Given the description of an element on the screen output the (x, y) to click on. 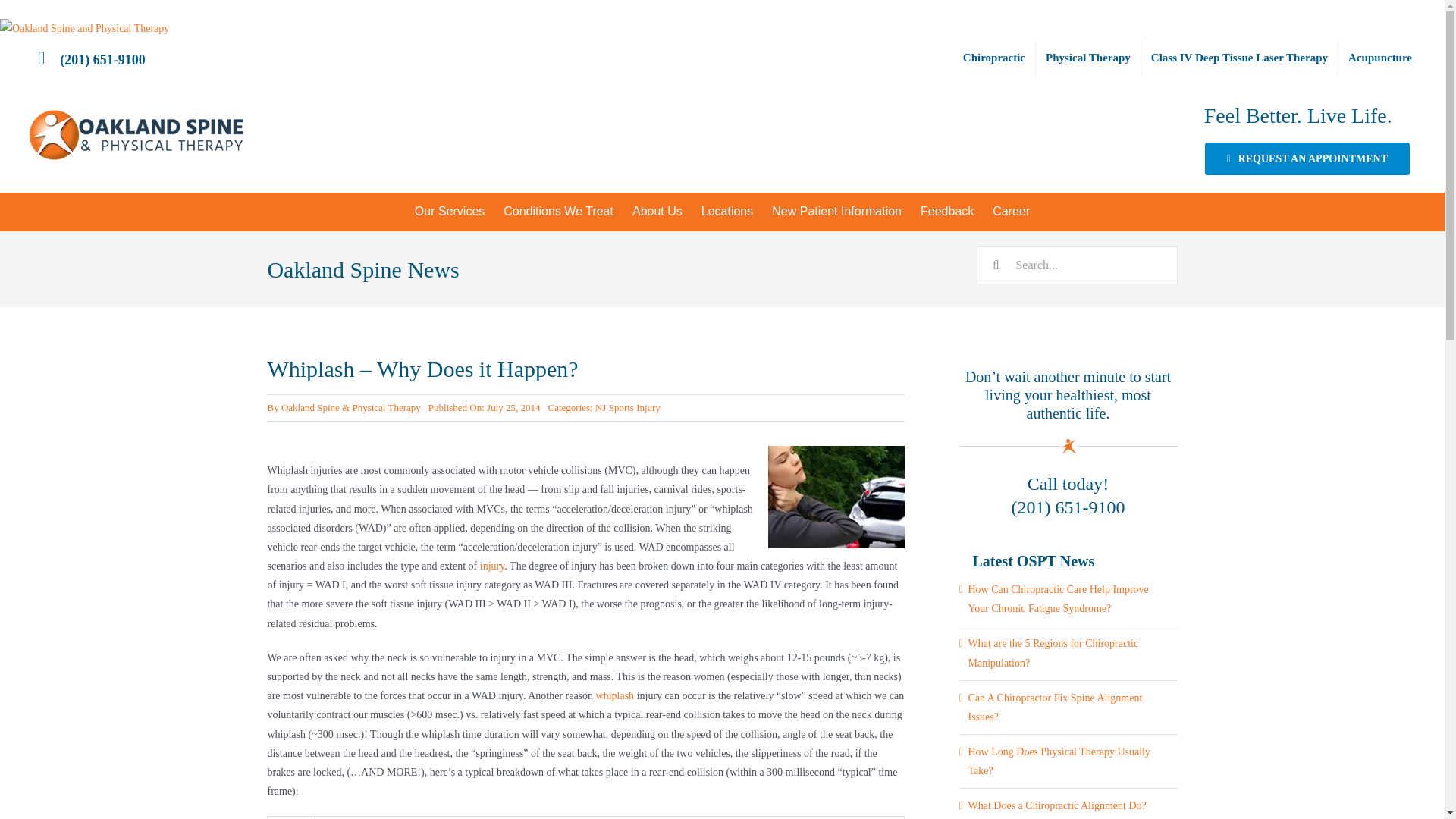
Locations (726, 211)
whiplash (614, 695)
About Us (657, 211)
Appointment Request (1307, 158)
Feedback (947, 211)
New Patient Information (836, 211)
Acupuncture (1380, 57)
injury (492, 565)
Class IV Deep Tissue Laser Therapy (1239, 57)
Conditions We Treat (559, 211)
REQUEST AN APPOINTMENT (1307, 158)
Chiropractic (994, 57)
Physical Therapy (1087, 57)
Our Services (448, 211)
